Given the description of an element on the screen output the (x, y) to click on. 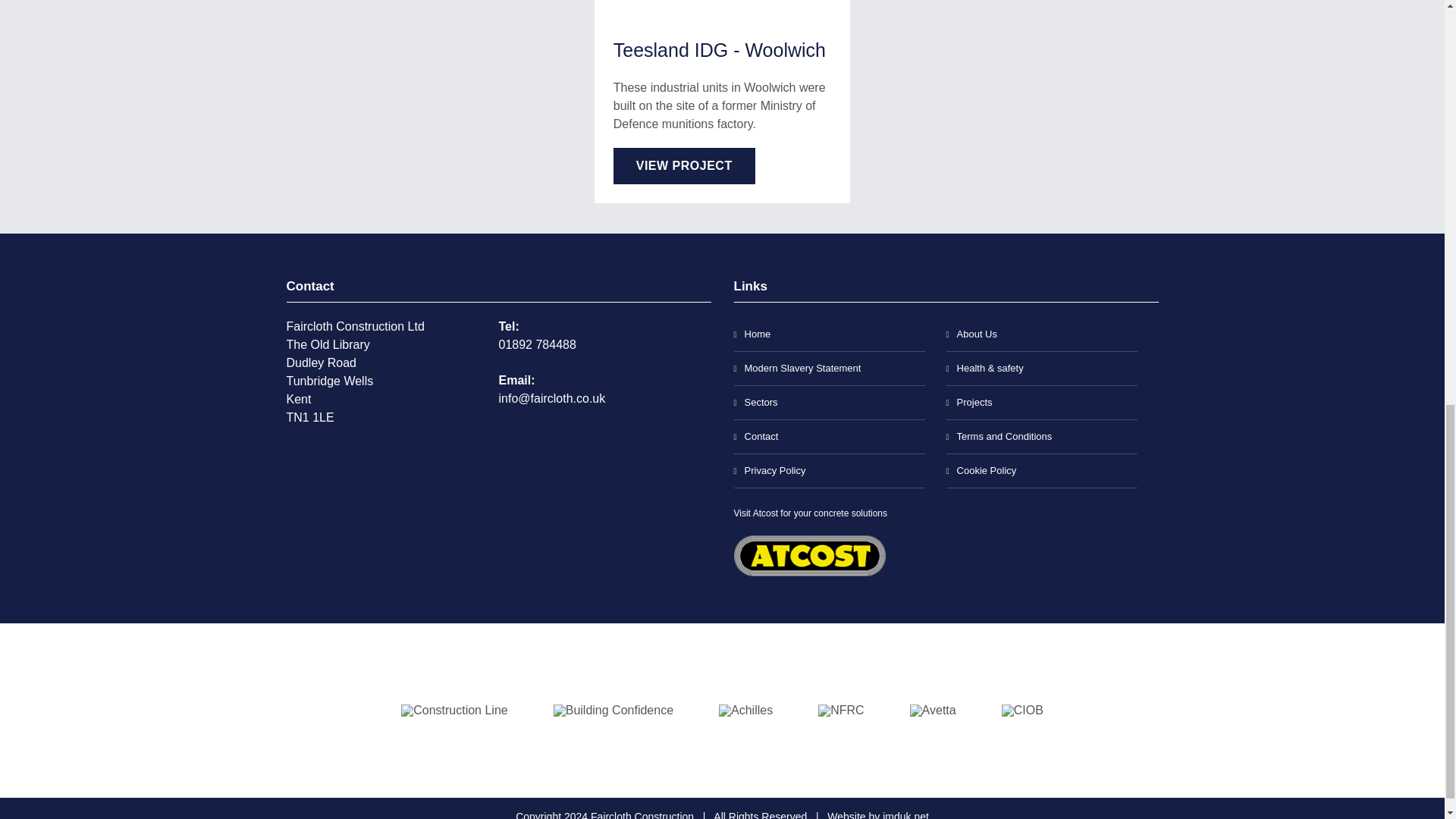
01892 784488 (537, 344)
Terms and Conditions (1041, 437)
Privacy Policy (828, 471)
Home (828, 334)
Contact (828, 437)
Modern Slavery Statement (828, 368)
Projects (1041, 402)
Sectors (828, 402)
About Us (1041, 334)
Cookie Policy (1041, 471)
